Given the description of an element on the screen output the (x, y) to click on. 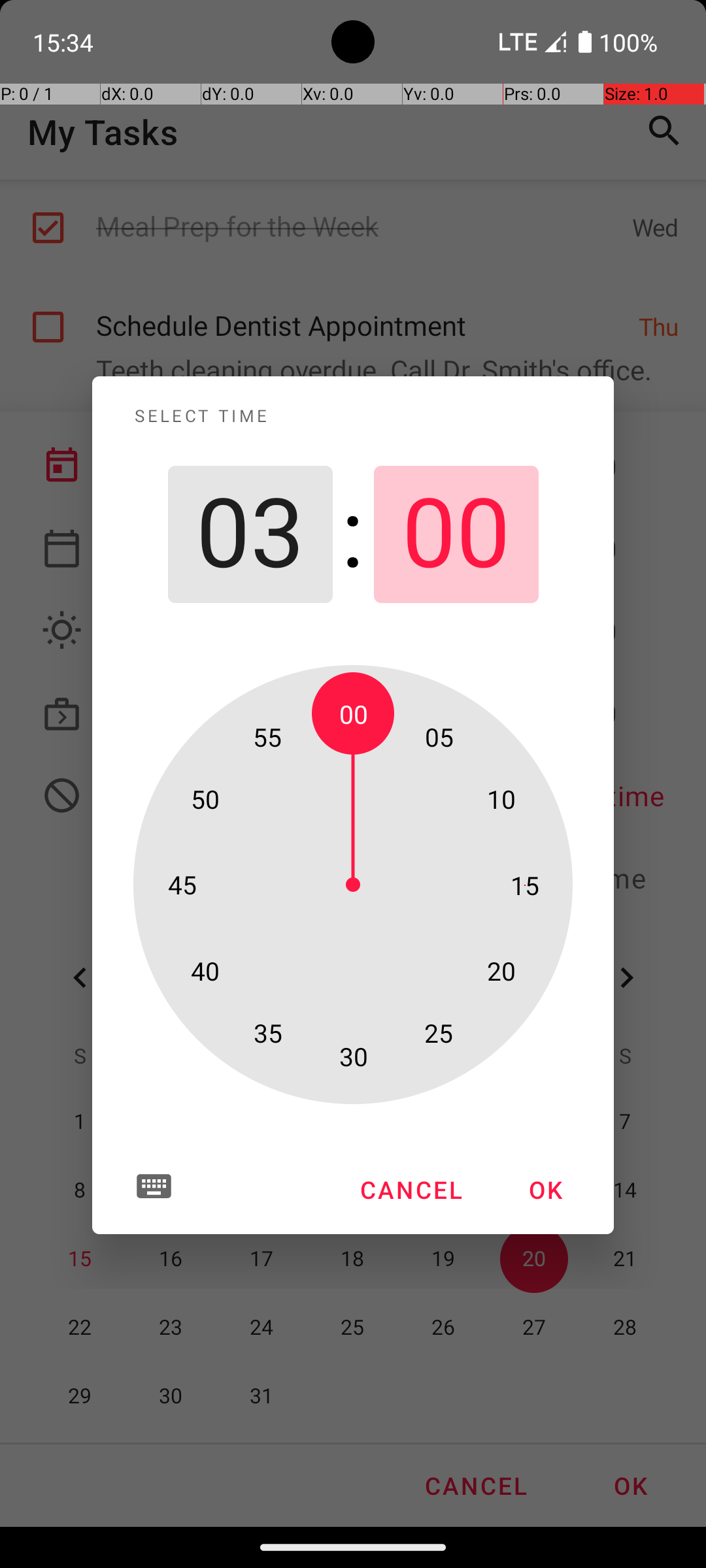
03 Element type: android.view.View (250, 534)
